Given the description of an element on the screen output the (x, y) to click on. 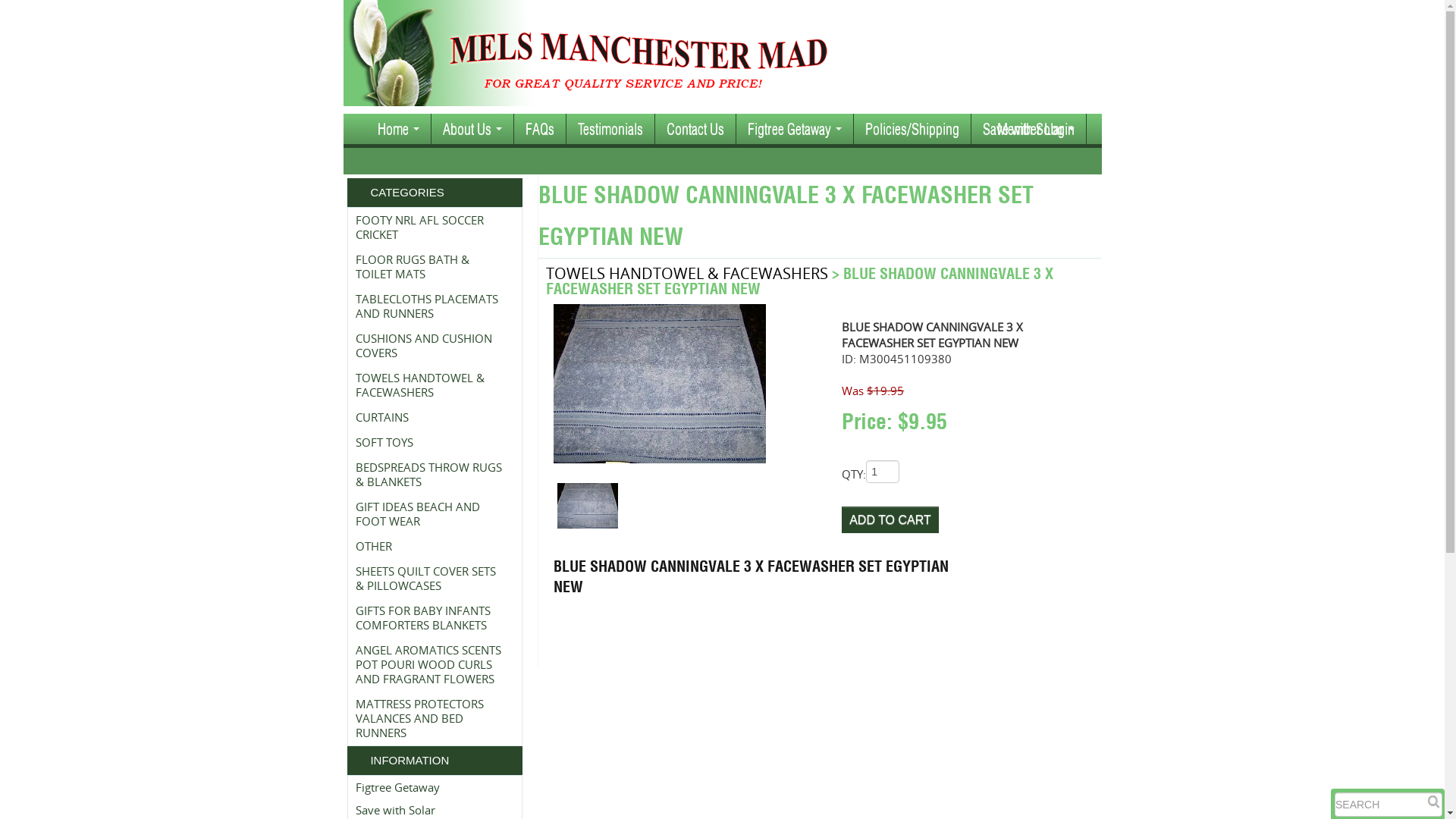
FLOOR RUGS BATH & TOILET MATS Element type: text (430, 266)
CURTAINS Element type: text (430, 417)
Save with Solar Element type: text (1027, 128)
Add to cart Element type: text (889, 519)
FOOTY NRL AFL SOCCER CRICKET Element type: text (430, 227)
Figtree Getaway Element type: text (793, 128)
FAQs Element type: text (539, 128)
CUSHIONS AND CUSHION COVERS Element type: text (430, 345)
Figtree Getaway Element type: text (397, 786)
Testimonials Element type: text (609, 128)
TABLECLOTHS PLACEMATS AND RUNNERS Element type: text (430, 305)
BEDSPREADS THROW RUGS & BLANKETS Element type: text (430, 474)
OTHER Element type: text (430, 546)
GIFTS FOR BABY INFANTS COMFORTERS BLANKETS Element type: text (430, 617)
Policies/Shipping Element type: text (911, 128)
Home Element type: text (397, 128)
MATTRESS PROTECTORS VALANCES AND BED RUNNERS Element type: text (430, 718)
GIFT IDEAS BEACH AND FOOT WEAR Element type: text (430, 513)
Contact Us Element type: text (695, 128)
Zoom Element type: text (659, 383)
SOFT TOYS Element type: text (430, 442)
TOWELS HANDTOWEL & FACEWASHERS Element type: text (687, 273)
Save with Solar Element type: text (395, 809)
SHEETS QUILT COVER SETS & PILLOWCASES Element type: text (430, 578)
About Us Element type: text (471, 128)
TOWELS HANDTOWEL & FACEWASHERS Element type: text (430, 384)
Member Login Element type: text (1035, 128)
